Given the description of an element on the screen output the (x, y) to click on. 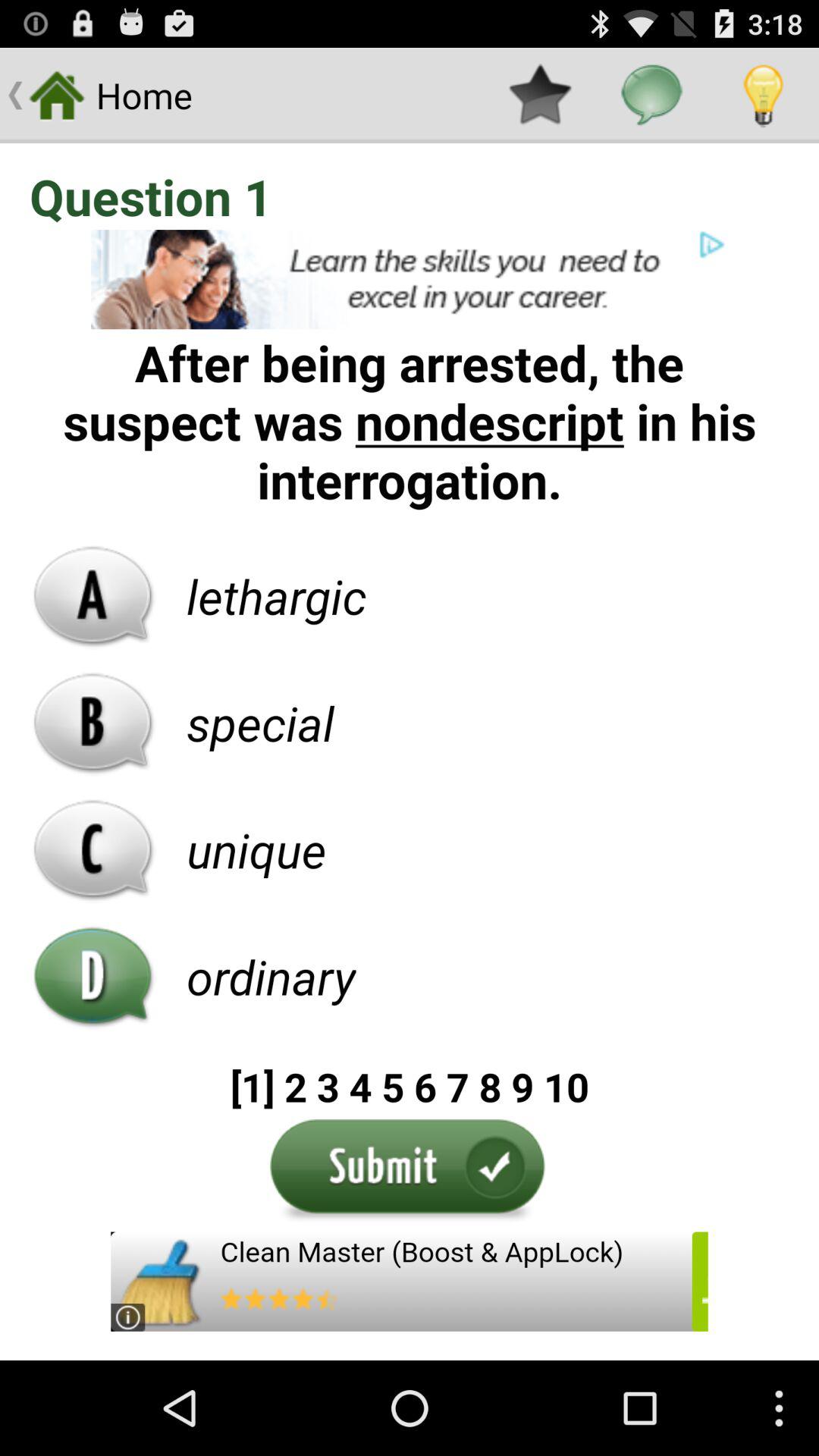
advertisement for clean master (409, 1281)
